Given the description of an element on the screen output the (x, y) to click on. 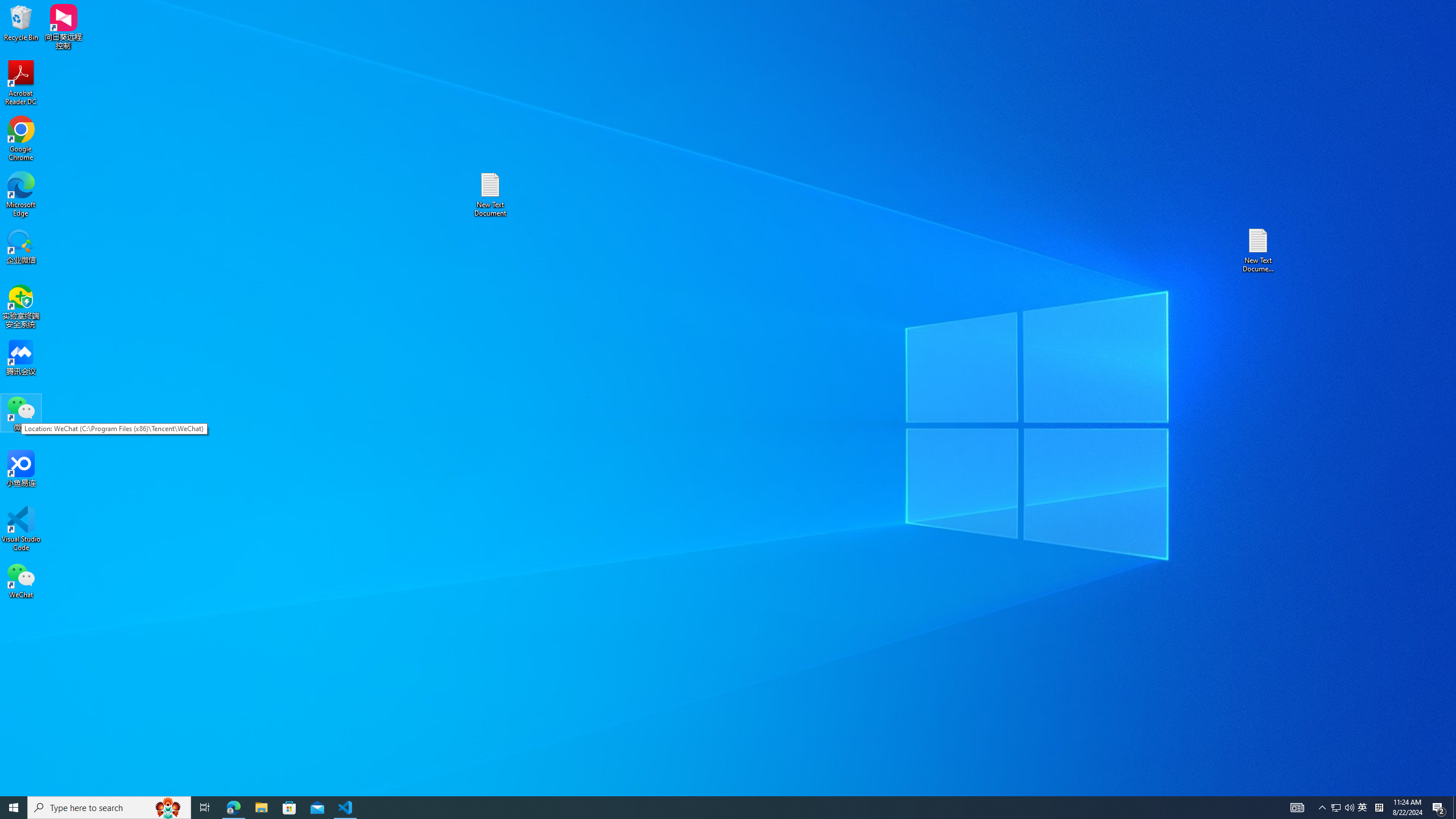
Running applications (707, 807)
